Given the description of an element on the screen output the (x, y) to click on. 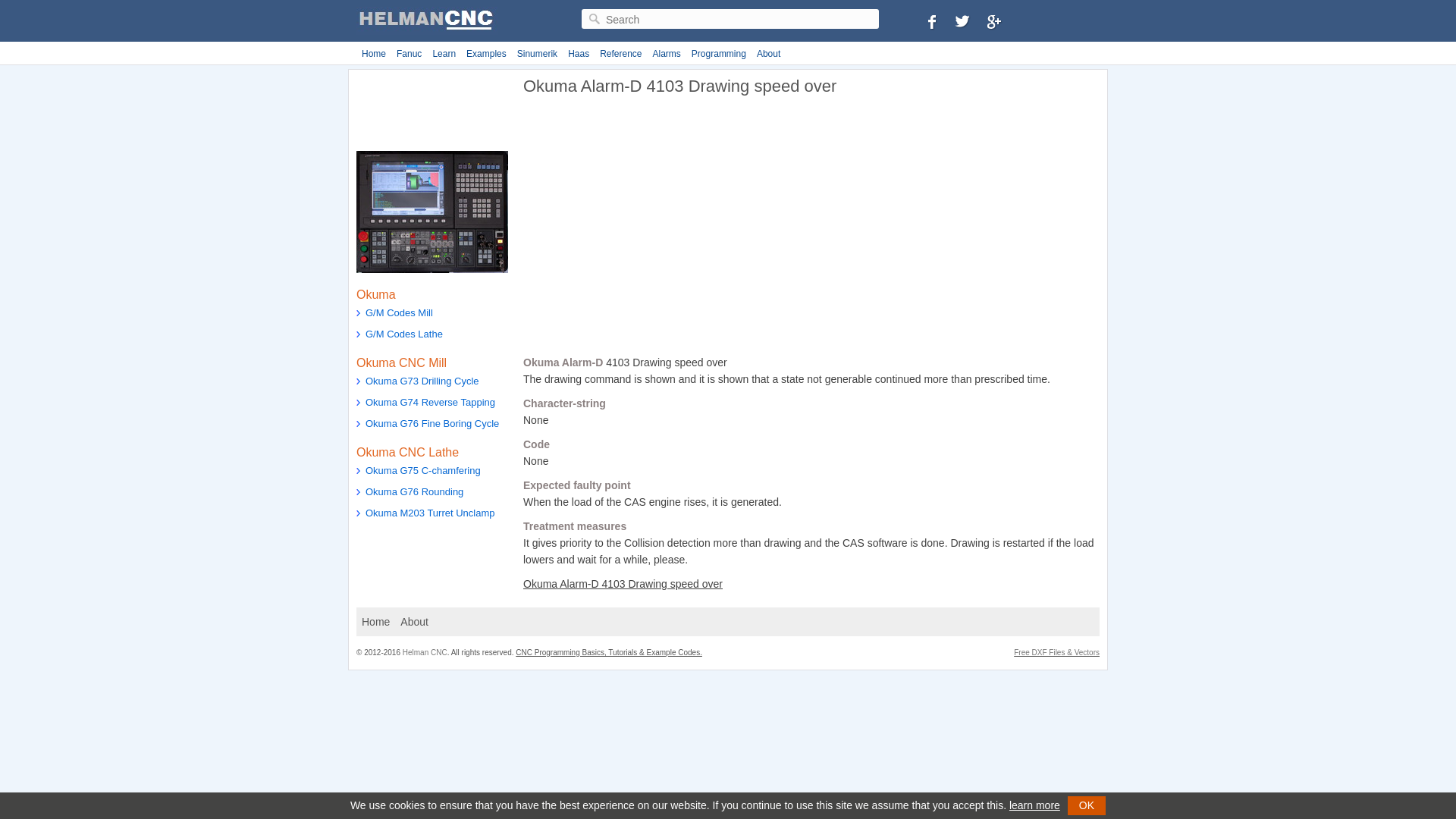
Okuma G76 Fine Boring Cycle (432, 424)
About (414, 621)
Advertisement (432, 110)
Programming (718, 54)
Helman CNC (424, 652)
Okuma G74 Reverse Tapping (432, 403)
Haas (578, 54)
Okuma CNC (432, 211)
Reference (620, 54)
Examples (486, 54)
Alarms (666, 54)
Fanuc (408, 54)
Learn (443, 54)
Advertisement (649, 231)
About (768, 54)
